Given the description of an element on the screen output the (x, y) to click on. 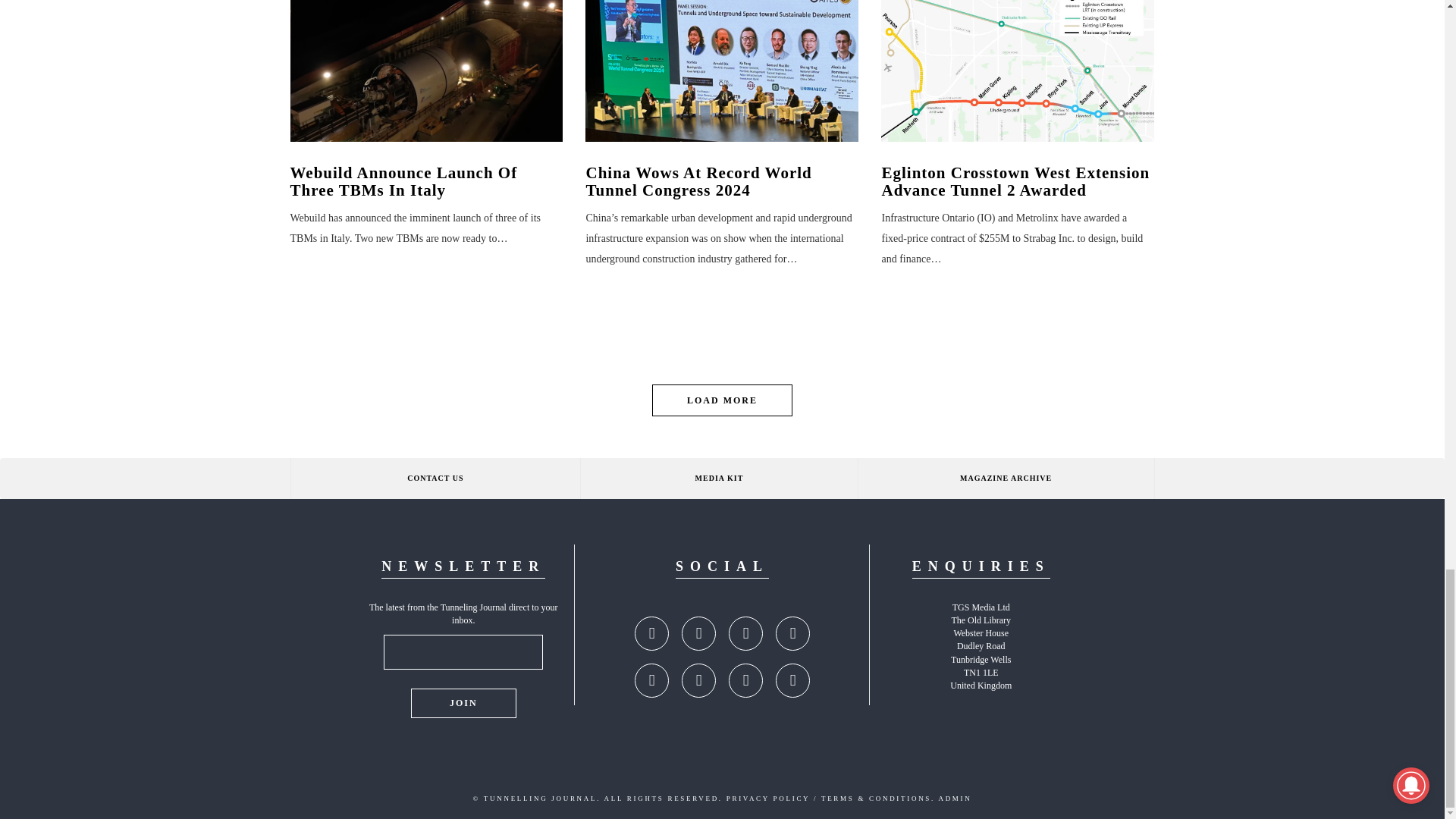
Join (463, 703)
Webuild announce launch of three TBMs in Italy (425, 70)
Webuild Announce Launch Of Three TBMs In Italy (425, 181)
